Given the description of an element on the screen output the (x, y) to click on. 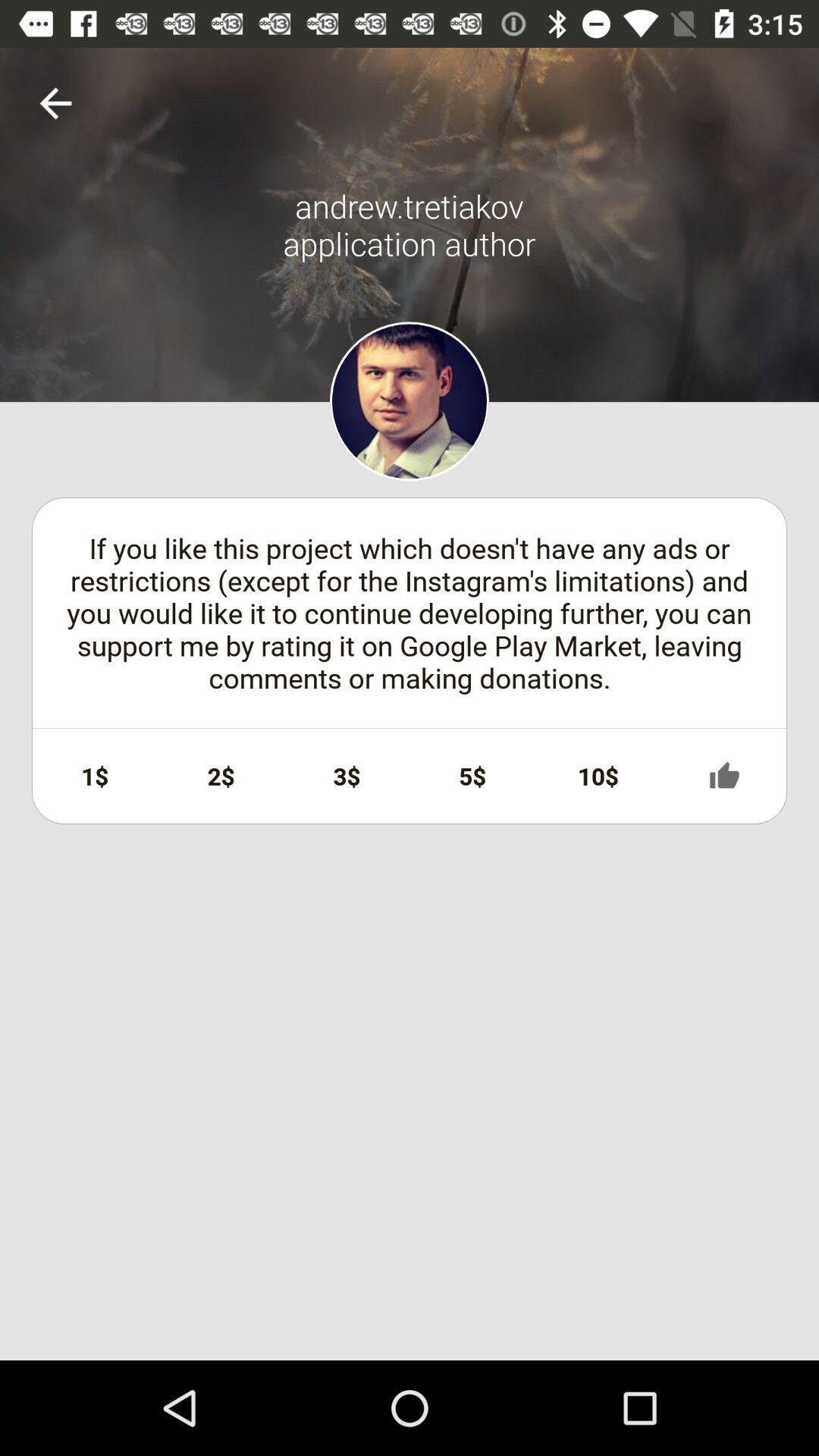
select the icon below the if you like icon (94, 776)
